Given the description of an element on the screen output the (x, y) to click on. 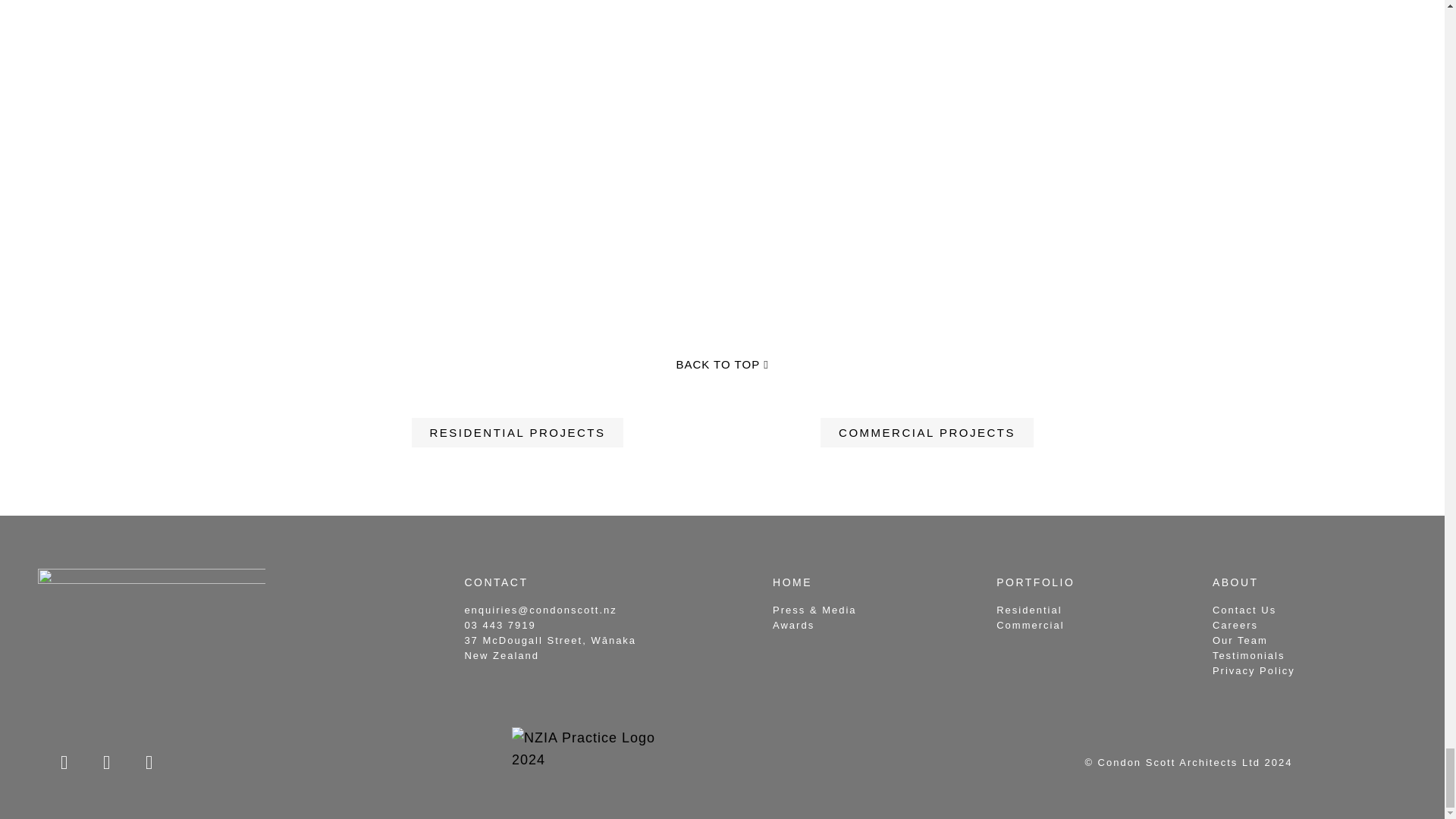
CONTACT (495, 582)
Commercial (1029, 624)
RESIDENTIAL PROJECTS (516, 432)
03 443 7919 (499, 624)
HOME (792, 582)
PORTFOLIO (1034, 582)
Residential (1028, 609)
COMMERCIAL PROJECTS (927, 432)
Awards (793, 624)
BACK TO TOP (722, 364)
